Given the description of an element on the screen output the (x, y) to click on. 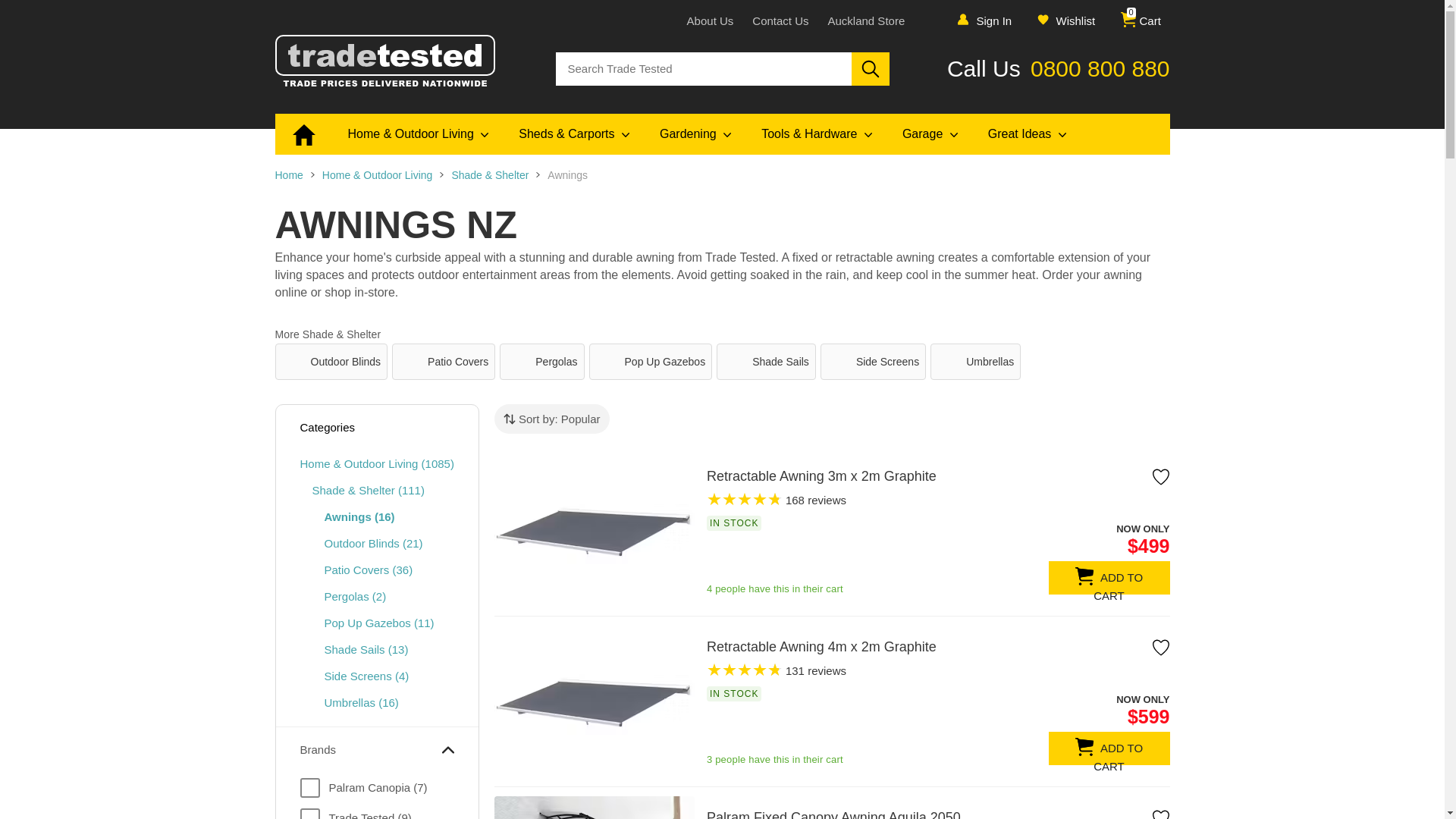
Pergolas (541, 361)
ADD TO CART (1108, 748)
Home (288, 174)
Awnings (359, 516)
Patio Covers (368, 569)
Shade Sails (765, 361)
Outdoor Blinds (331, 361)
homepage (288, 174)
Pop Up Gazebos (378, 622)
Contact Us (780, 20)
